Given the description of an element on the screen output the (x, y) to click on. 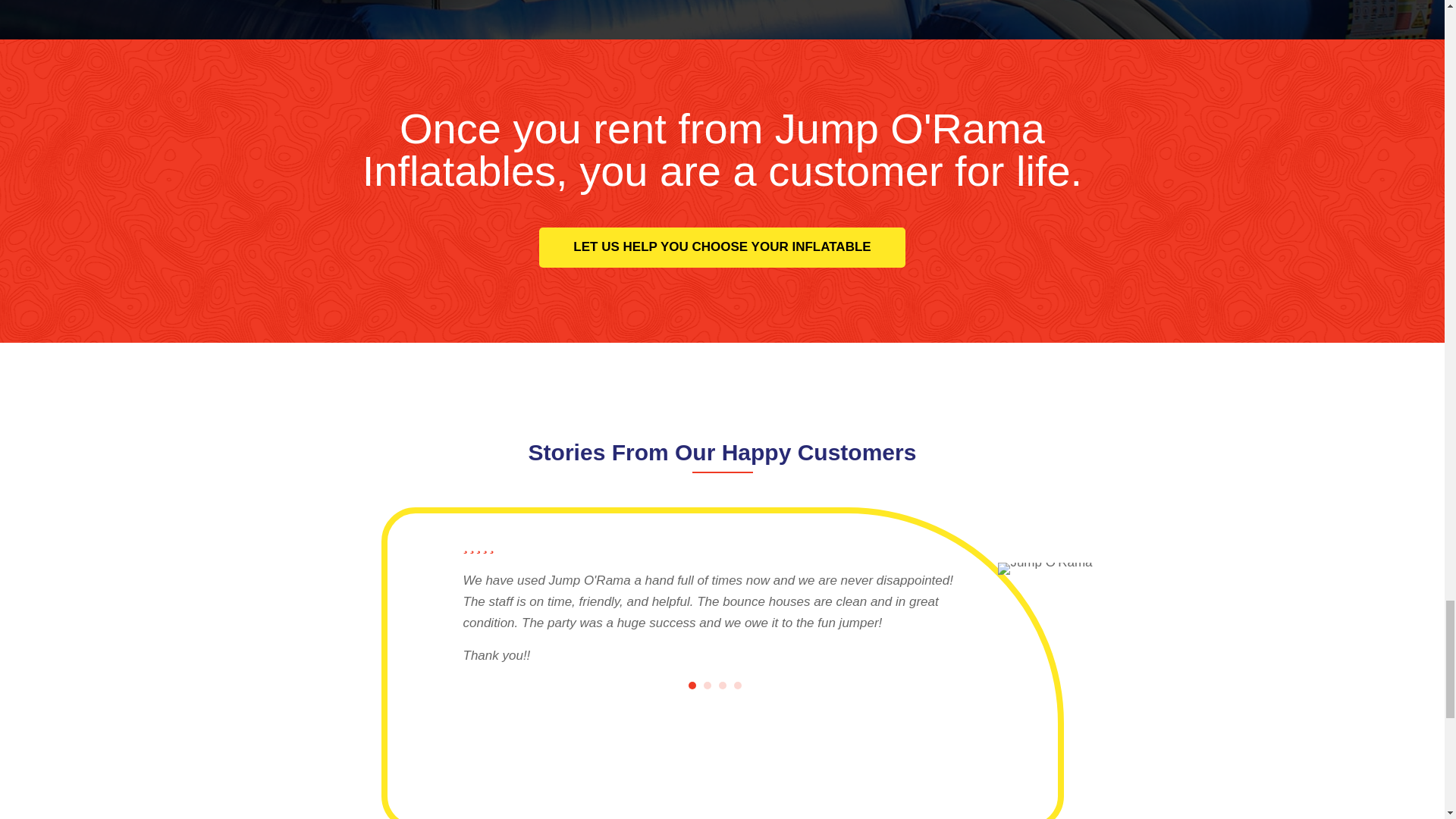
LET US HELP YOU CHOOSE YOUR INFLATABLE (721, 246)
3 (722, 685)
2 (707, 685)
4 (737, 685)
1 (691, 685)
